Given the description of an element on the screen output the (x, y) to click on. 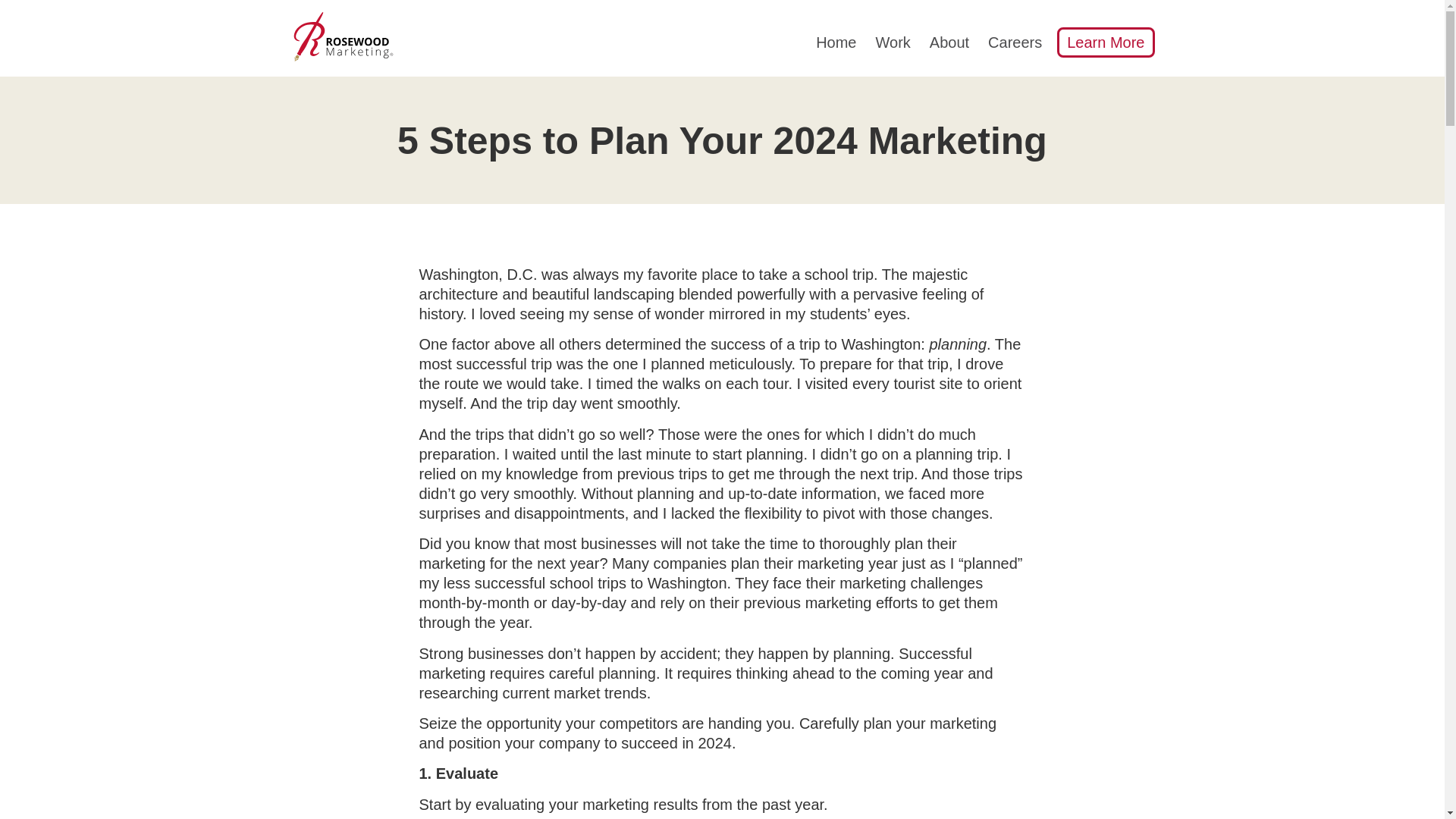
Work (892, 42)
Home (835, 42)
Learn More (1105, 42)
About (949, 42)
Careers (1015, 42)
